Given the description of an element on the screen output the (x, y) to click on. 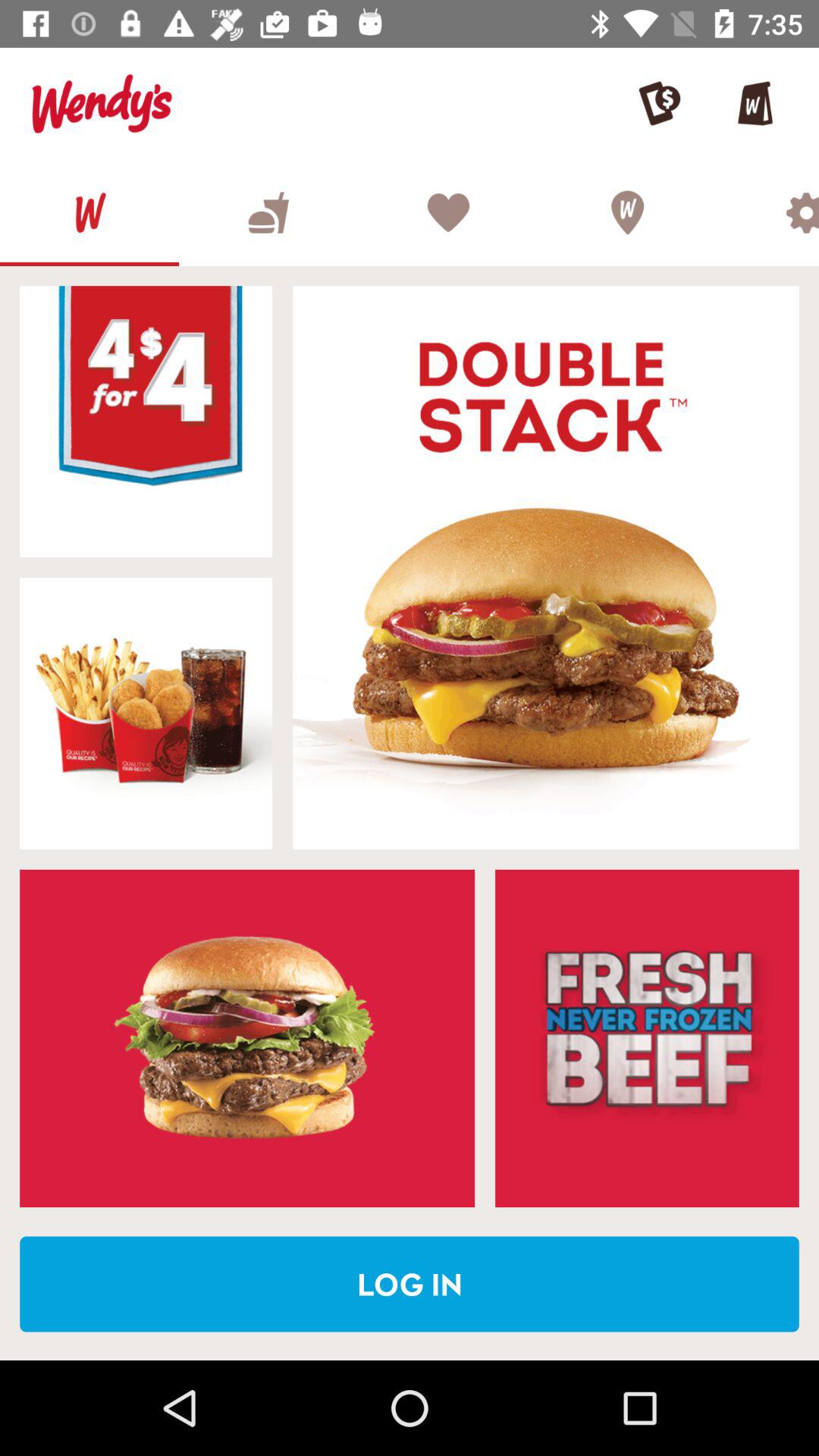
banner advertisement (145, 421)
